Given the description of an element on the screen output the (x, y) to click on. 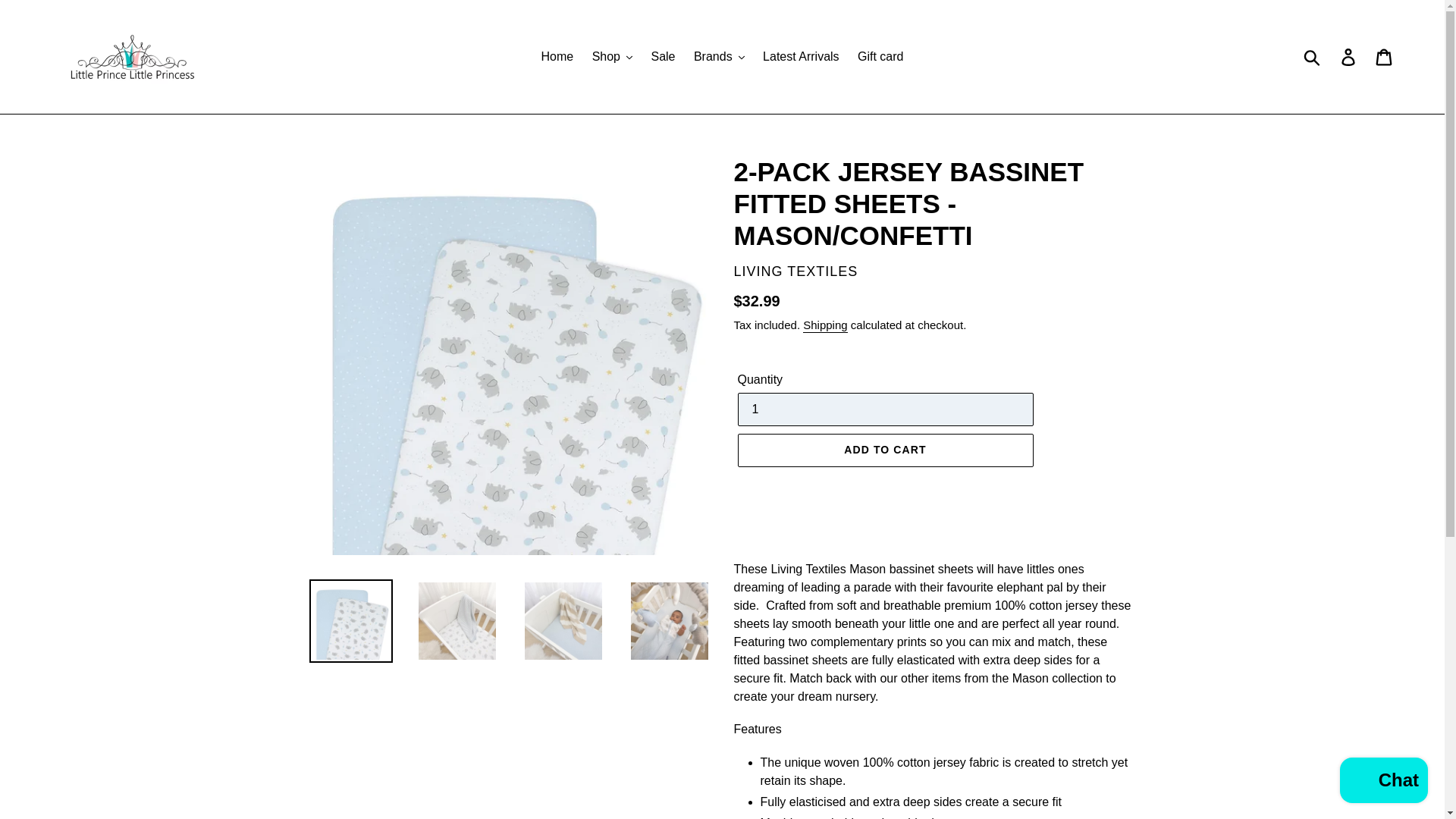
Home (556, 56)
Shopify online store chat (1383, 781)
1 (884, 409)
